Given the description of an element on the screen output the (x, y) to click on. 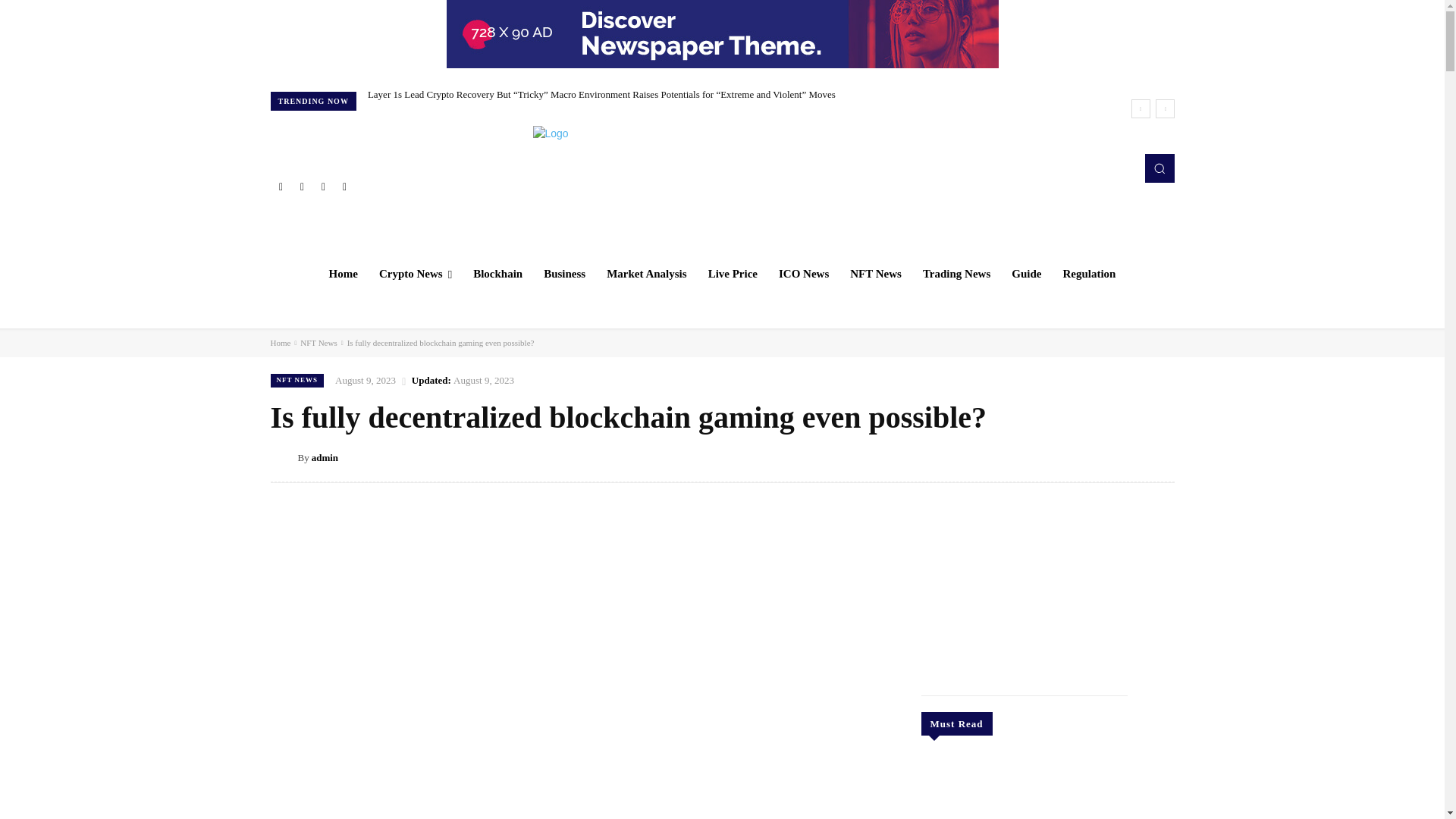
Instagram (302, 186)
Facebook (280, 186)
Twitter (323, 186)
Crypto News (415, 272)
Home (343, 272)
